Given the description of an element on the screen output the (x, y) to click on. 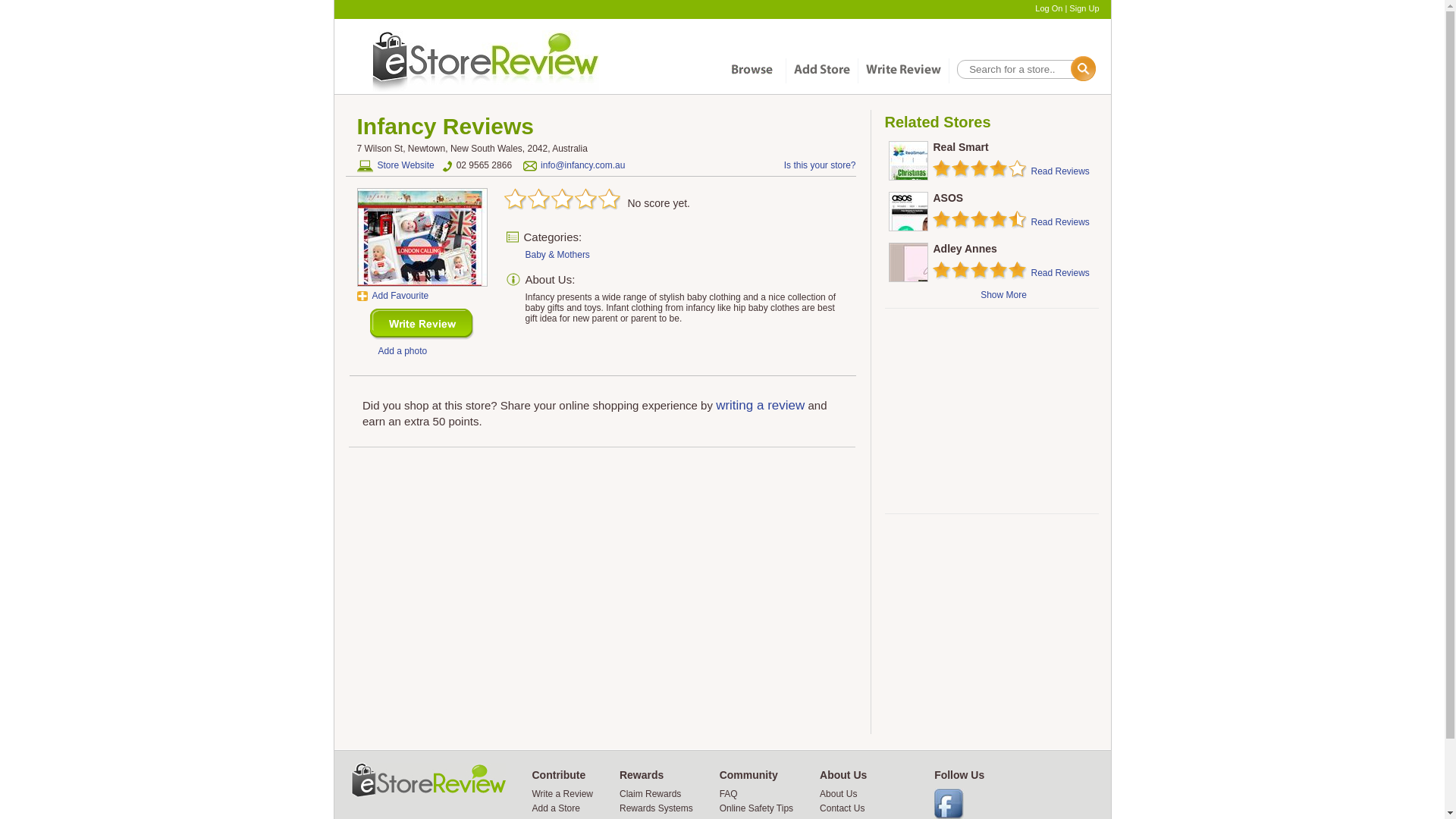
writing a review Element type: text (759, 405)
Contact Us Element type: text (841, 808)
ASOS Element type: text (947, 197)
Rewards Systems Element type: text (656, 808)
Advertisement Element type: hover (990, 410)
Advertisement Element type: hover (990, 623)
About Us Element type: text (837, 793)
Log On Element type: text (1048, 7)
New Review Element type: text (421, 323)
Add Favourite Element type: text (392, 295)
Sign Up Element type: text (1083, 7)
Add a Store Element type: text (556, 808)
Show More Element type: text (1003, 294)
Is this your store? Element type: text (820, 165)
Baby & Mothers Element type: text (556, 254)
Store Website Element type: text (394, 166)
Add a photo Element type: text (401, 350)
Adley Annes Element type: text (964, 248)
Write a Review Element type: text (562, 793)
Online Safety Tips Element type: text (756, 808)
info@infancy.com.au Element type: text (582, 165)
Real Smart Element type: text (960, 147)
FAQ Element type: text (728, 793)
Claim Rewards Element type: text (649, 793)
